Given the description of an element on the screen output the (x, y) to click on. 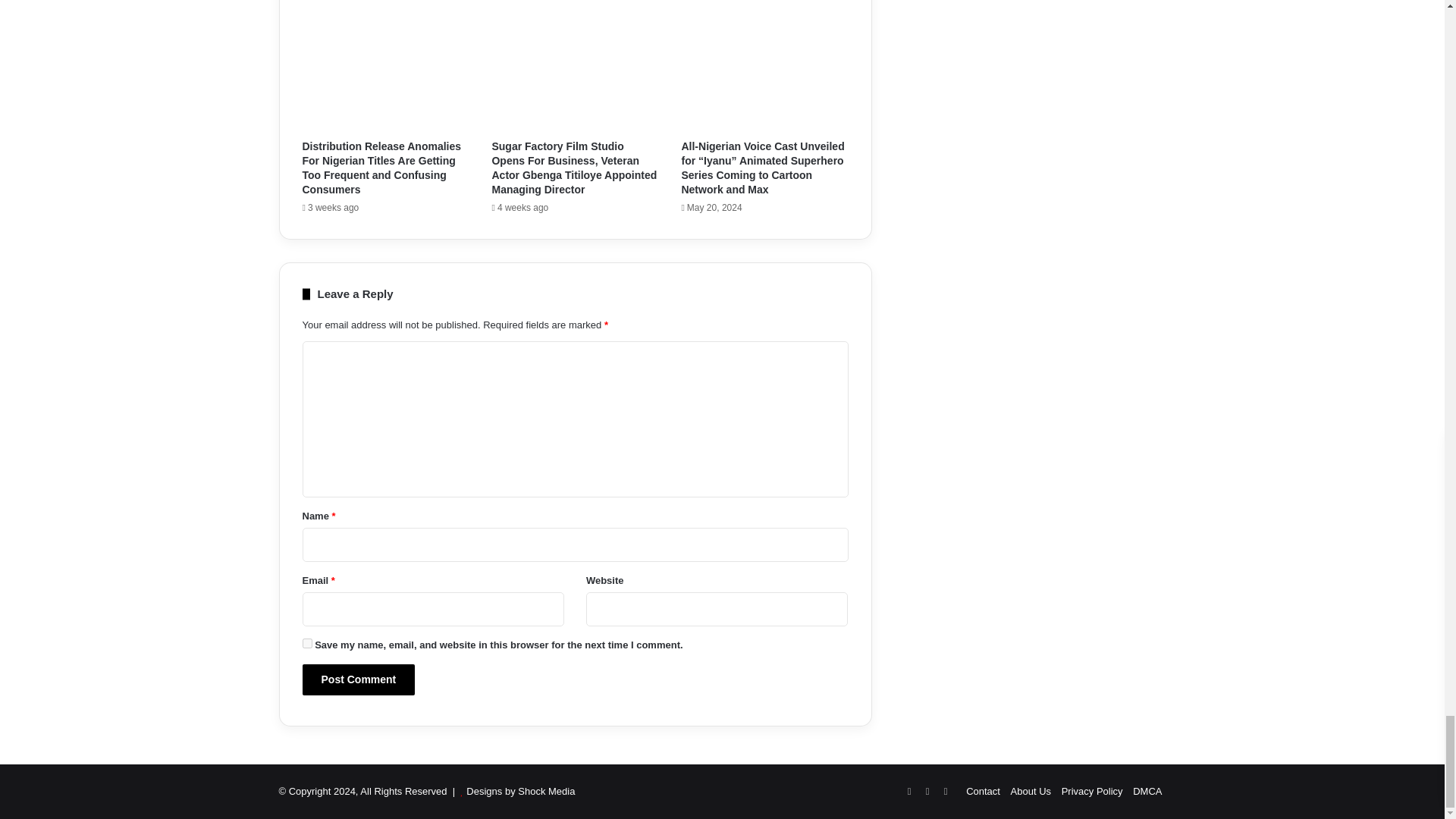
yes (306, 643)
Post Comment (357, 679)
